Given the description of an element on the screen output the (x, y) to click on. 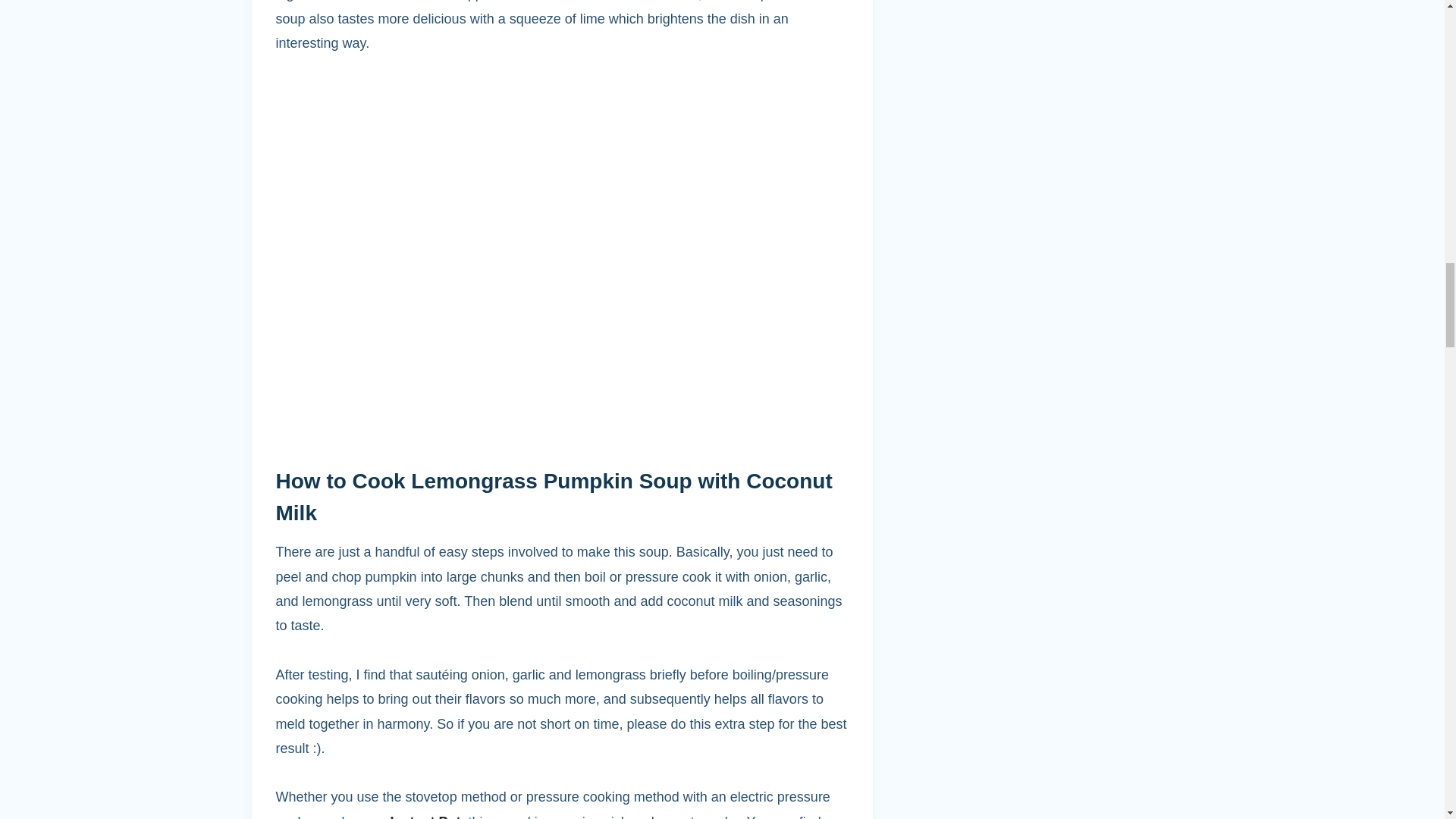
Instant Pot (425, 816)
